Given the description of an element on the screen output the (x, y) to click on. 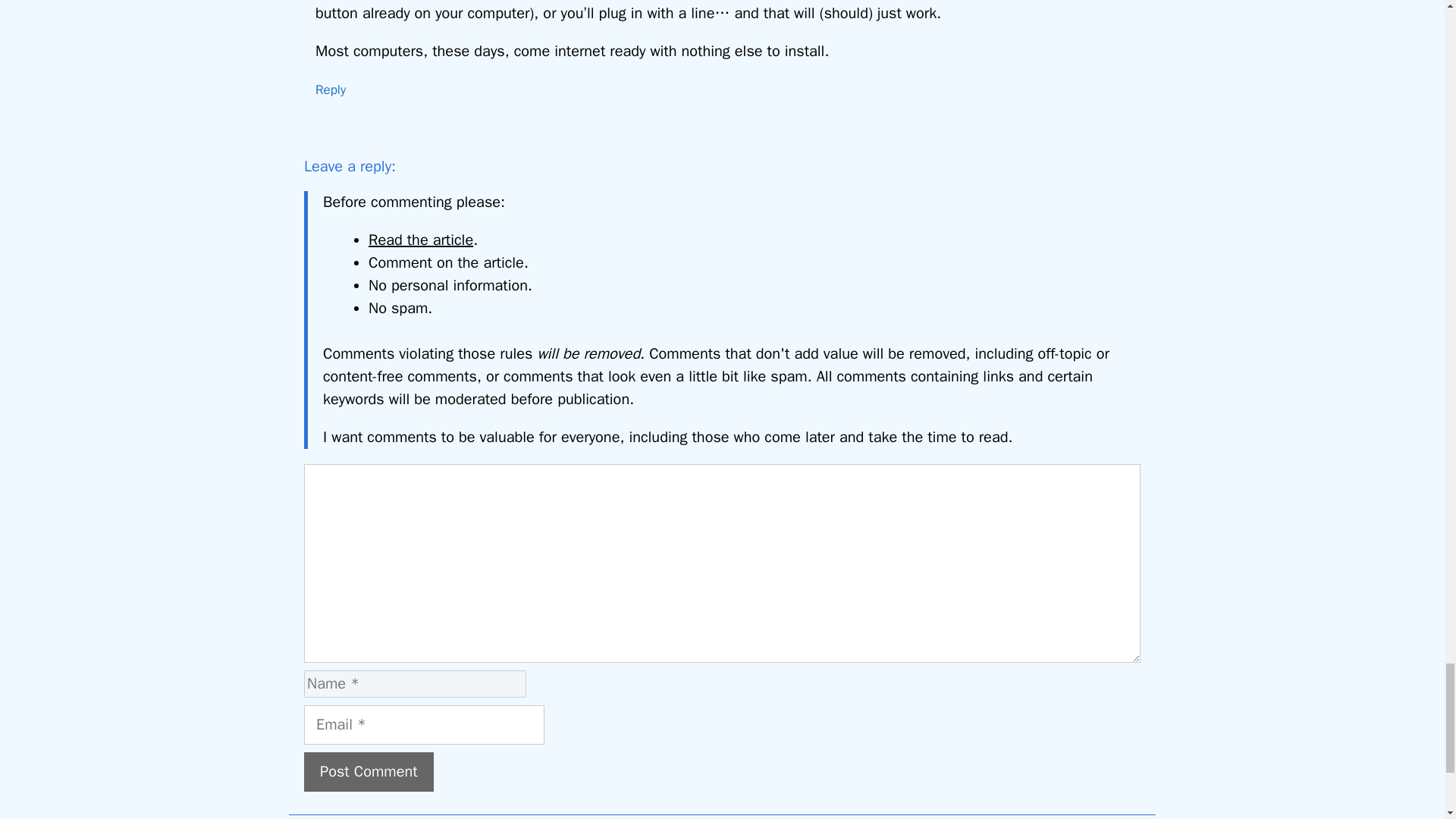
Post Comment (368, 771)
